Given the description of an element on the screen output the (x, y) to click on. 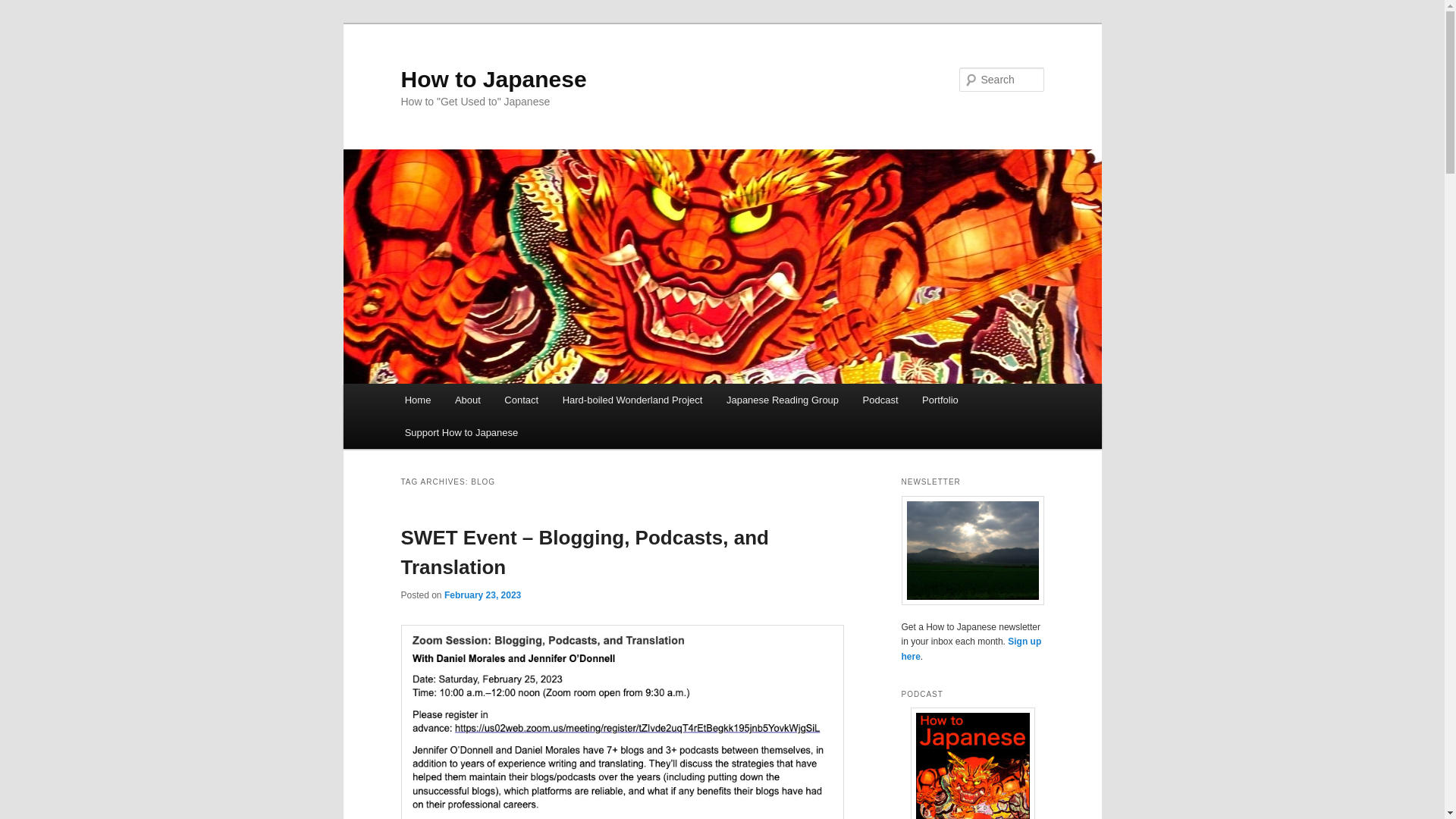
Sign up here (971, 648)
Hard-boiled Wonderland Project (632, 400)
12:27 am (482, 594)
Portfolio (939, 400)
About (467, 400)
Podcast (880, 400)
February 23, 2023 (482, 594)
Home (417, 400)
How to Japanese (493, 78)
Search (24, 8)
Support How to Japanese (461, 432)
Contact (521, 400)
Japanese Reading Group (782, 400)
